Given the description of an element on the screen output the (x, y) to click on. 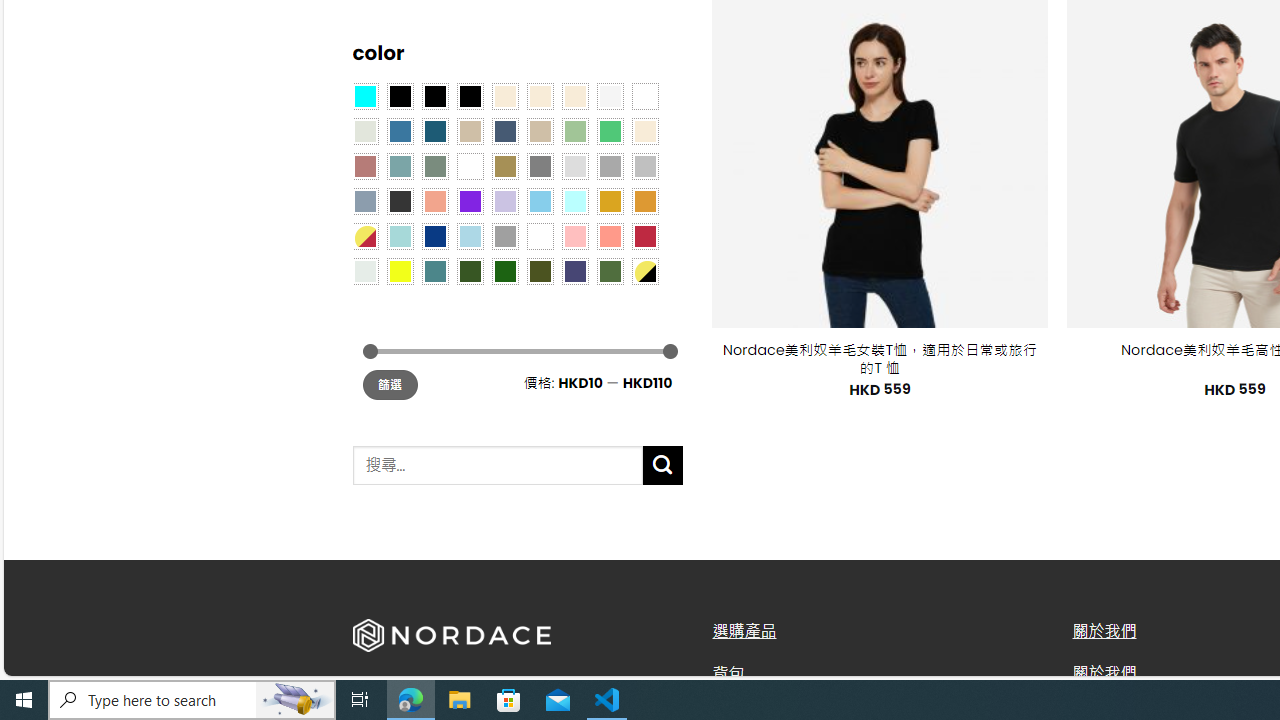
Dull Nickle (364, 270)
